Given the description of an element on the screen output the (x, y) to click on. 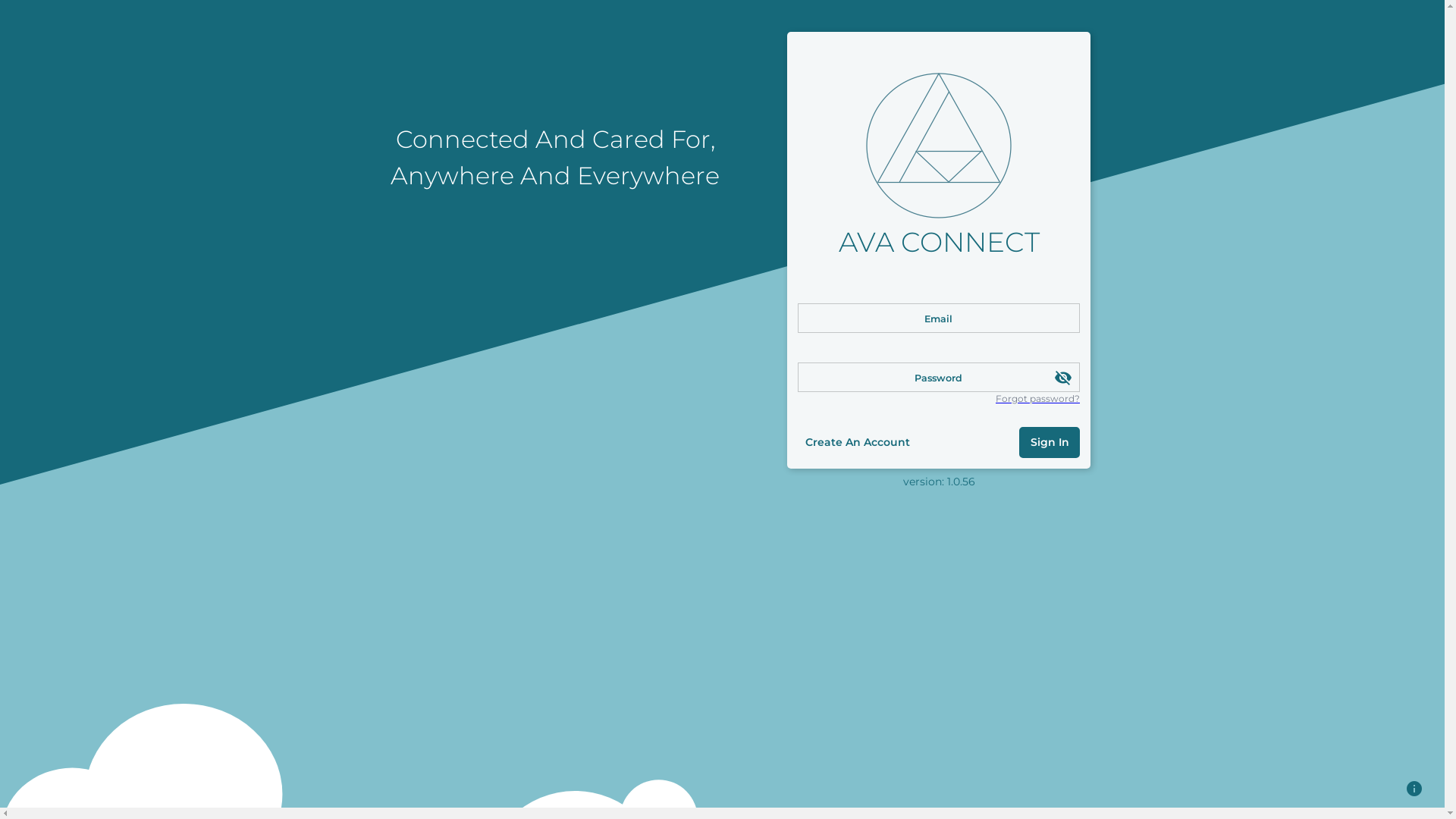
Forgot password? Element type: text (1037, 398)
Sign In Element type: text (1049, 442)
visibility_off Element type: text (1062, 377)
Create An Account Element type: text (857, 442)
info Element type: text (1414, 788)
